Given the description of an element on the screen output the (x, y) to click on. 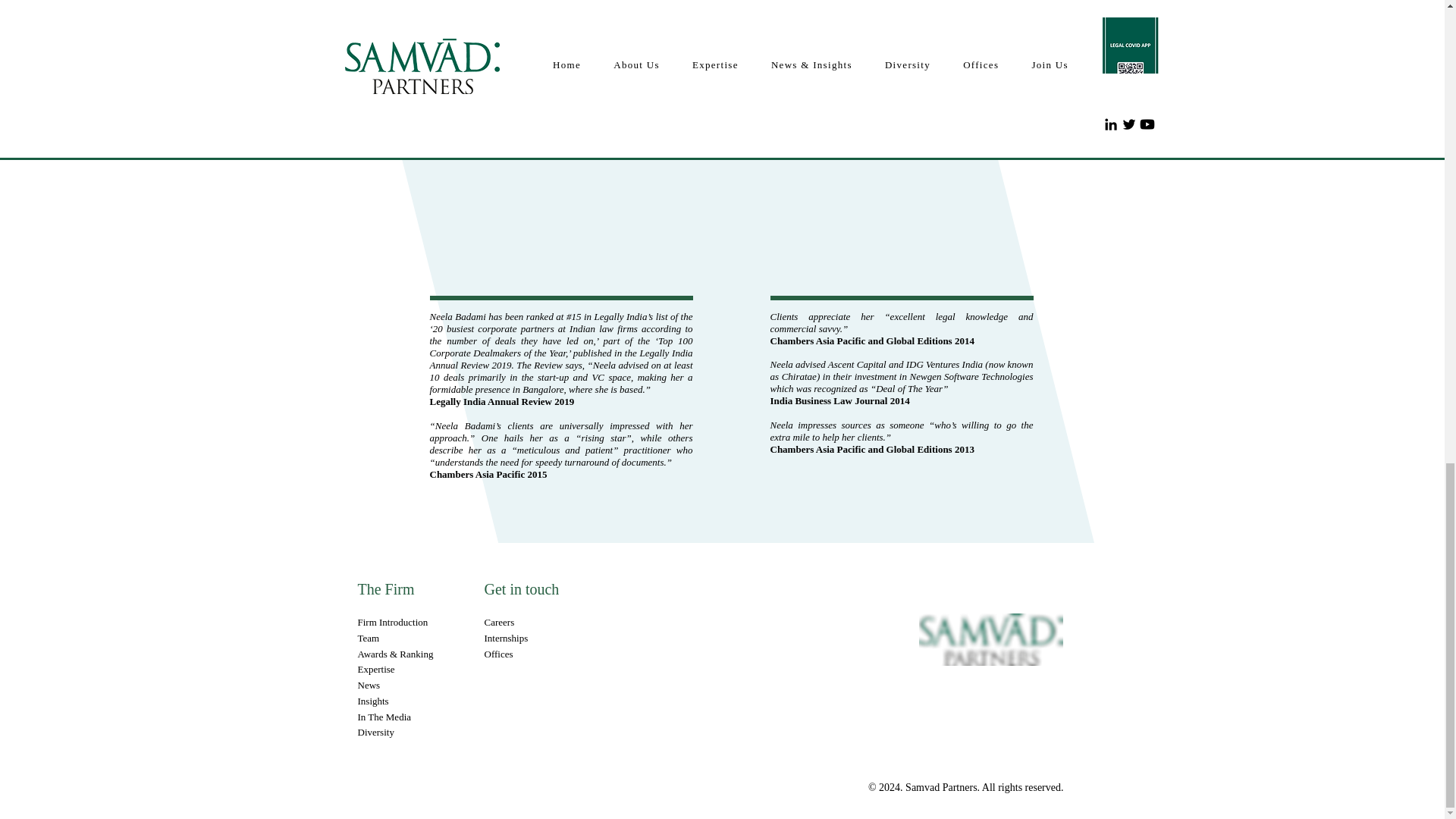
Expertise (376, 668)
Firm Introduction (393, 622)
Diversity (376, 731)
Careers (498, 622)
News (369, 685)
Insights (373, 700)
Offices (497, 654)
In The Media (385, 716)
Internships (505, 637)
Team (369, 637)
recommended-lawyer-2023.jpg (716, 13)
